Given the description of an element on the screen output the (x, y) to click on. 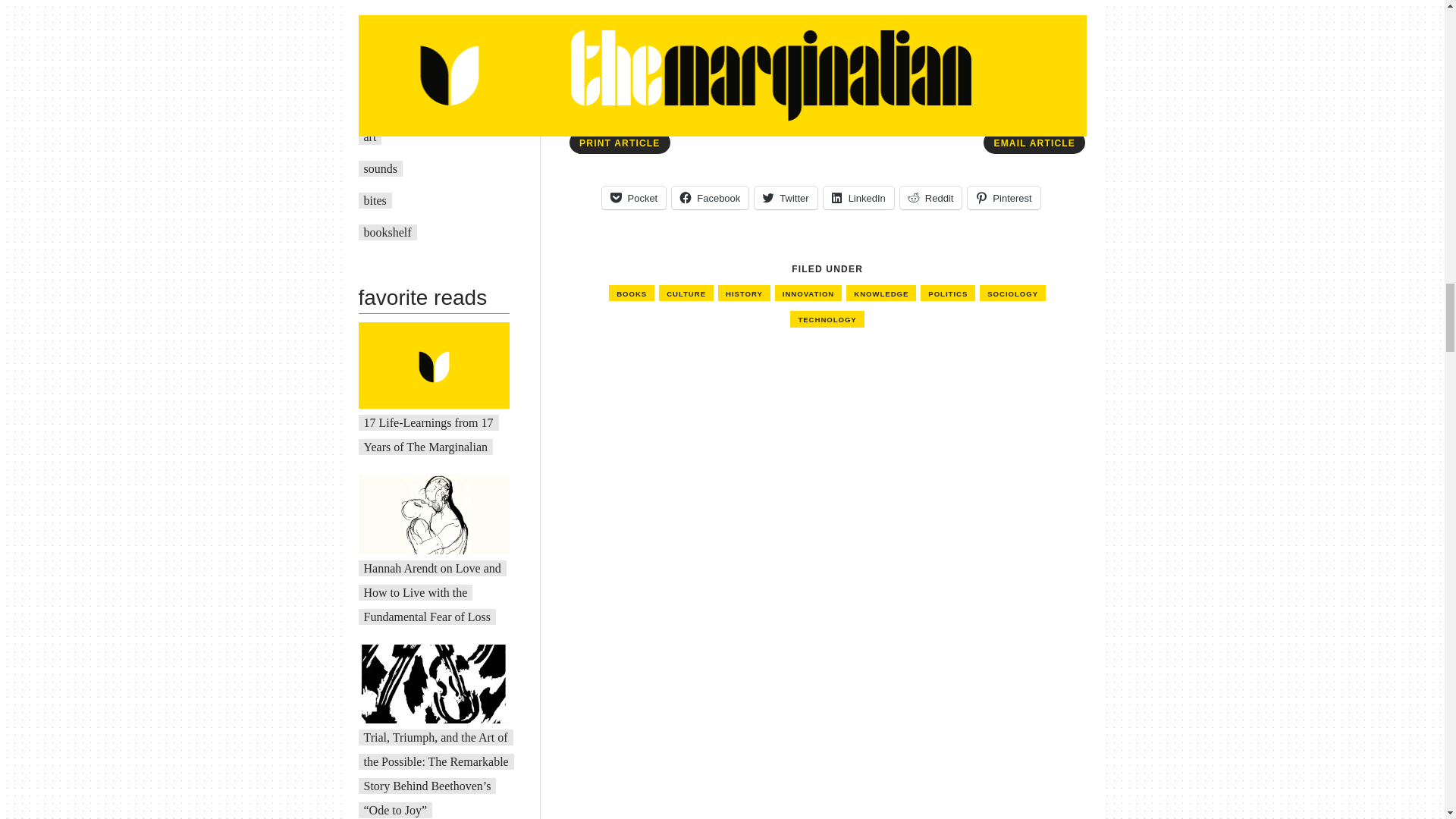
Click to share on Pinterest (1003, 197)
sounds (380, 168)
Subscribe (640, 29)
Click to share on LinkedIn (858, 197)
A Velocity of Being (412, 105)
Click to share on Facebook (709, 197)
Click to share on Twitter (785, 197)
Click to share on Reddit (930, 197)
bites (375, 200)
Click to share on Pocket (633, 197)
